Given the description of an element on the screen output the (x, y) to click on. 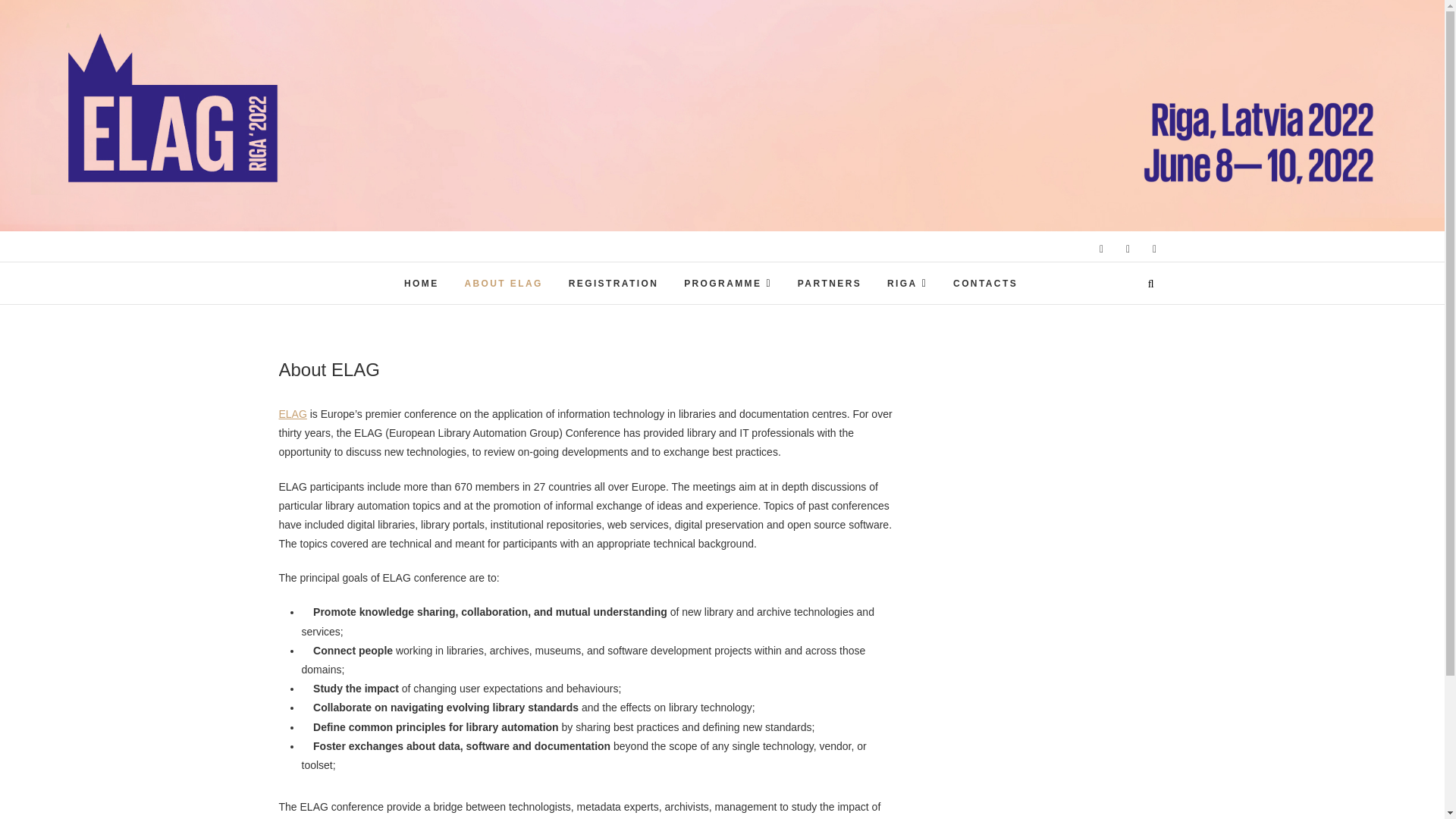
PROGRAMME (727, 282)
PARTNERS (829, 283)
CONTACTS (985, 283)
elag2022.lnb.lv (646, 264)
HOME (421, 283)
ELAG (293, 413)
elag2022.lnb.lv (646, 264)
REGISTRATION (613, 283)
ABOUT ELAG (502, 283)
RIGA (907, 282)
